Given the description of an element on the screen output the (x, y) to click on. 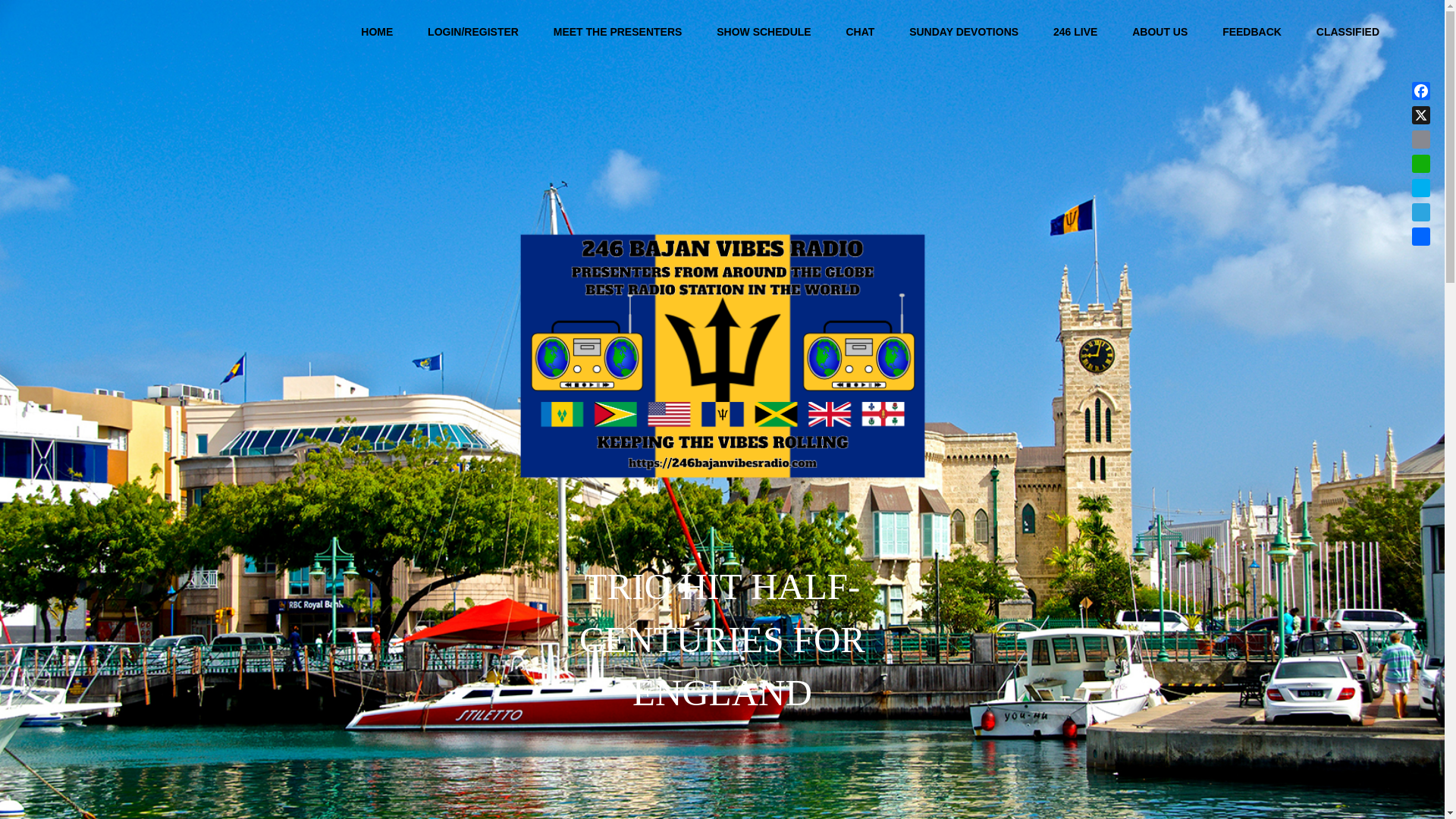
CLASSIFIED (1347, 31)
FEEDBACK (1252, 31)
CHAT (859, 31)
SUNDAY DEVOTIONS (963, 31)
246 LIVE (1075, 31)
MEET THE PRESENTERS (617, 31)
SHOW SCHEDULE (763, 31)
Search (1408, 31)
HOME (376, 31)
ABOUT US (1159, 31)
